Given the description of an element on the screen output the (x, y) to click on. 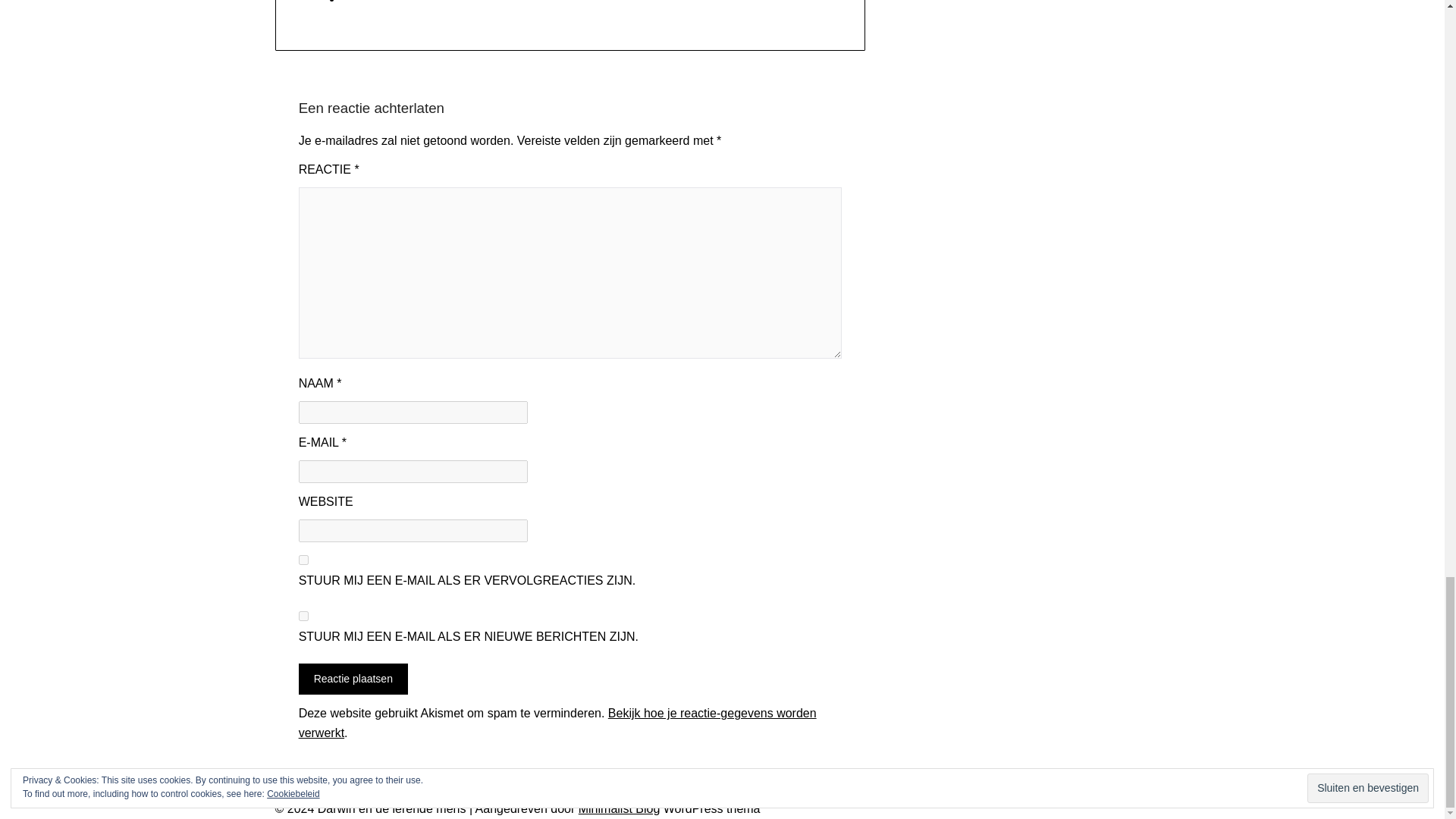
Minimalist Blog (619, 808)
Reactie plaatsen (352, 678)
subscribe (303, 560)
Reactie plaatsen (352, 678)
Bekijk hoe je reactie-gegevens worden verwerkt (557, 722)
subscribe (303, 615)
